Given the description of an element on the screen output the (x, y) to click on. 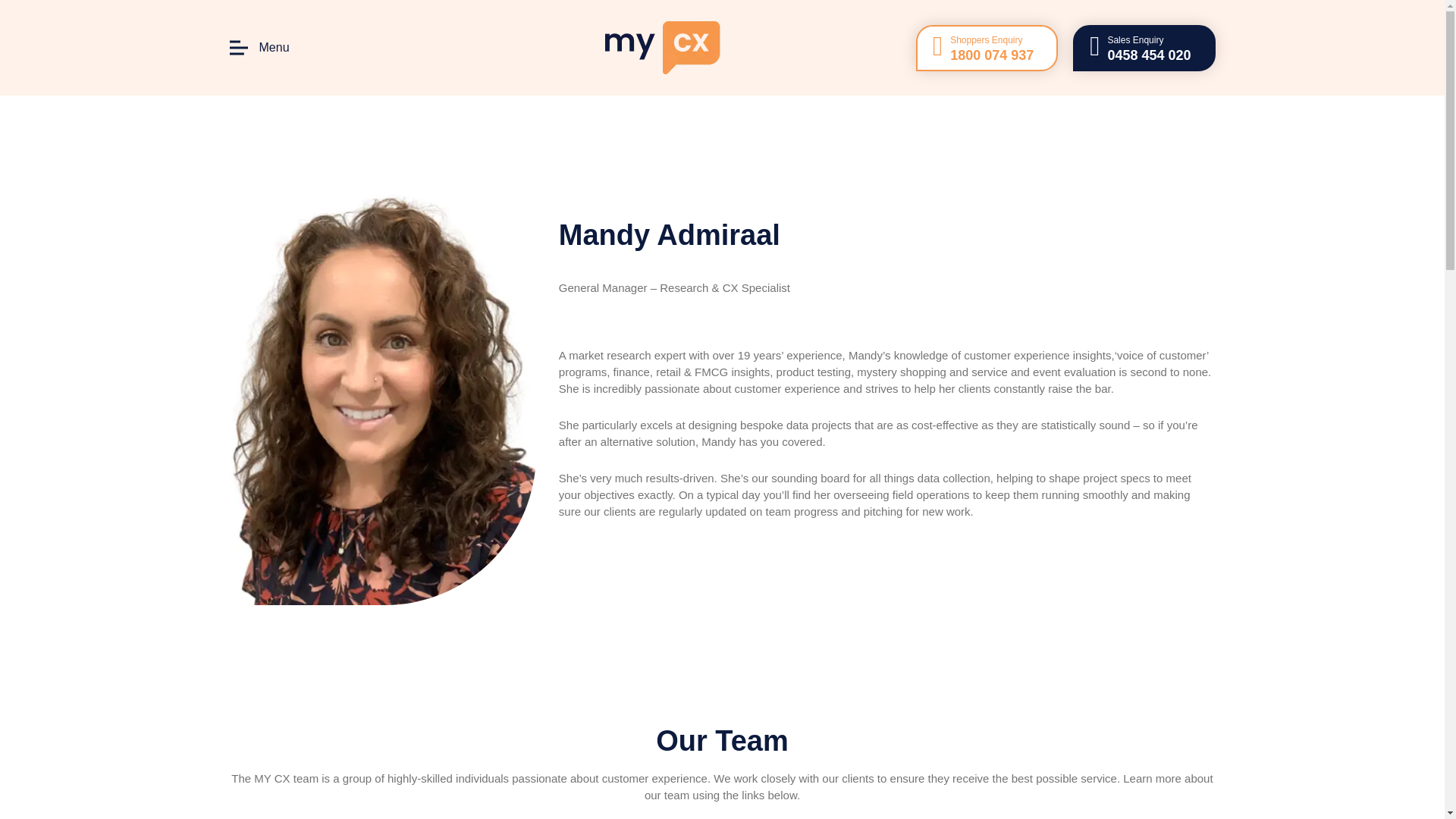
Menu (258, 47)
